Given the description of an element on the screen output the (x, y) to click on. 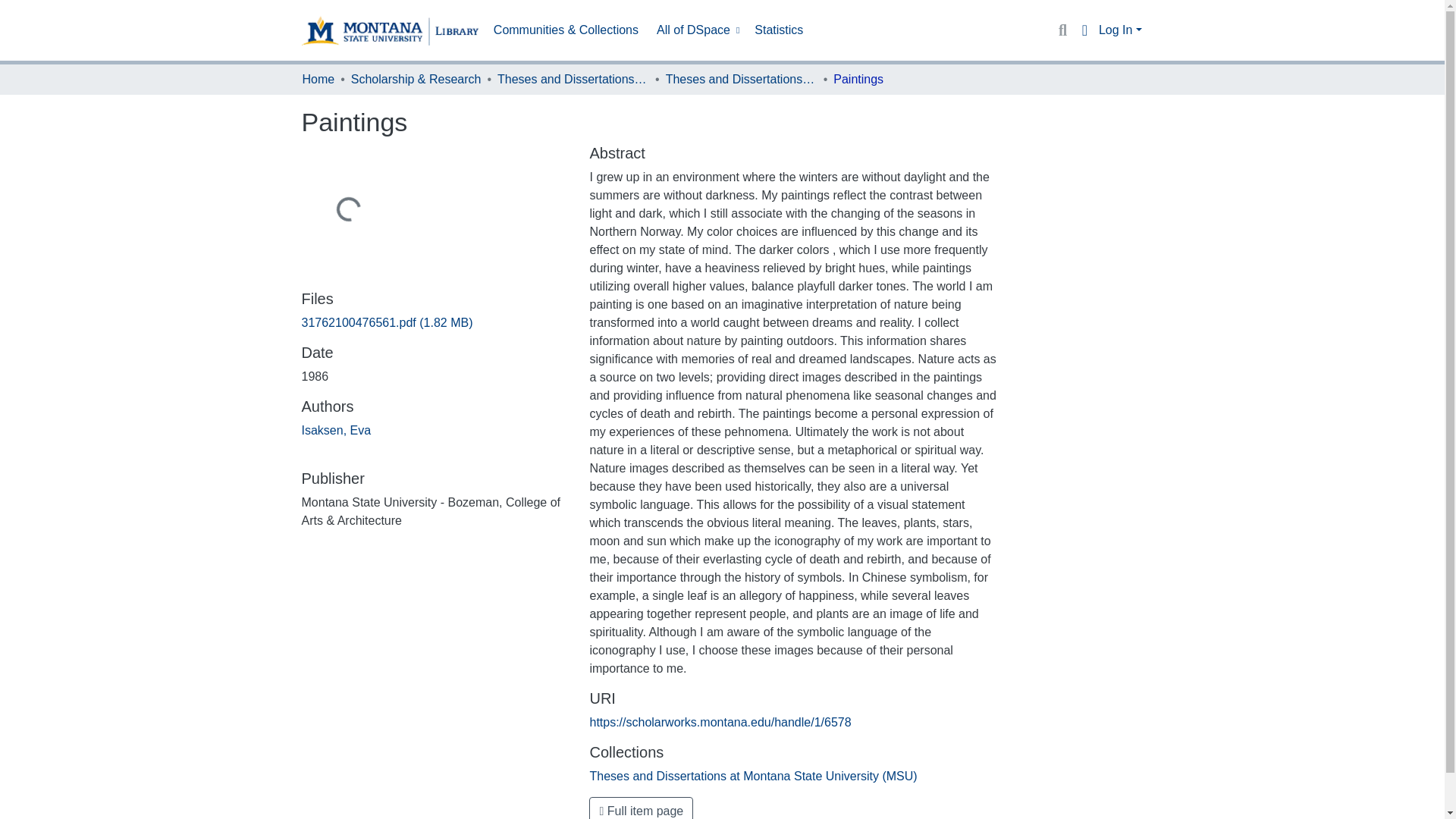
Home (317, 79)
Language switch (1084, 30)
Statistics (778, 30)
Full item page (641, 807)
Log In (1119, 29)
All of DSpace (696, 30)
Search (1061, 30)
Isaksen, Eva (336, 430)
